Given the description of an element on the screen output the (x, y) to click on. 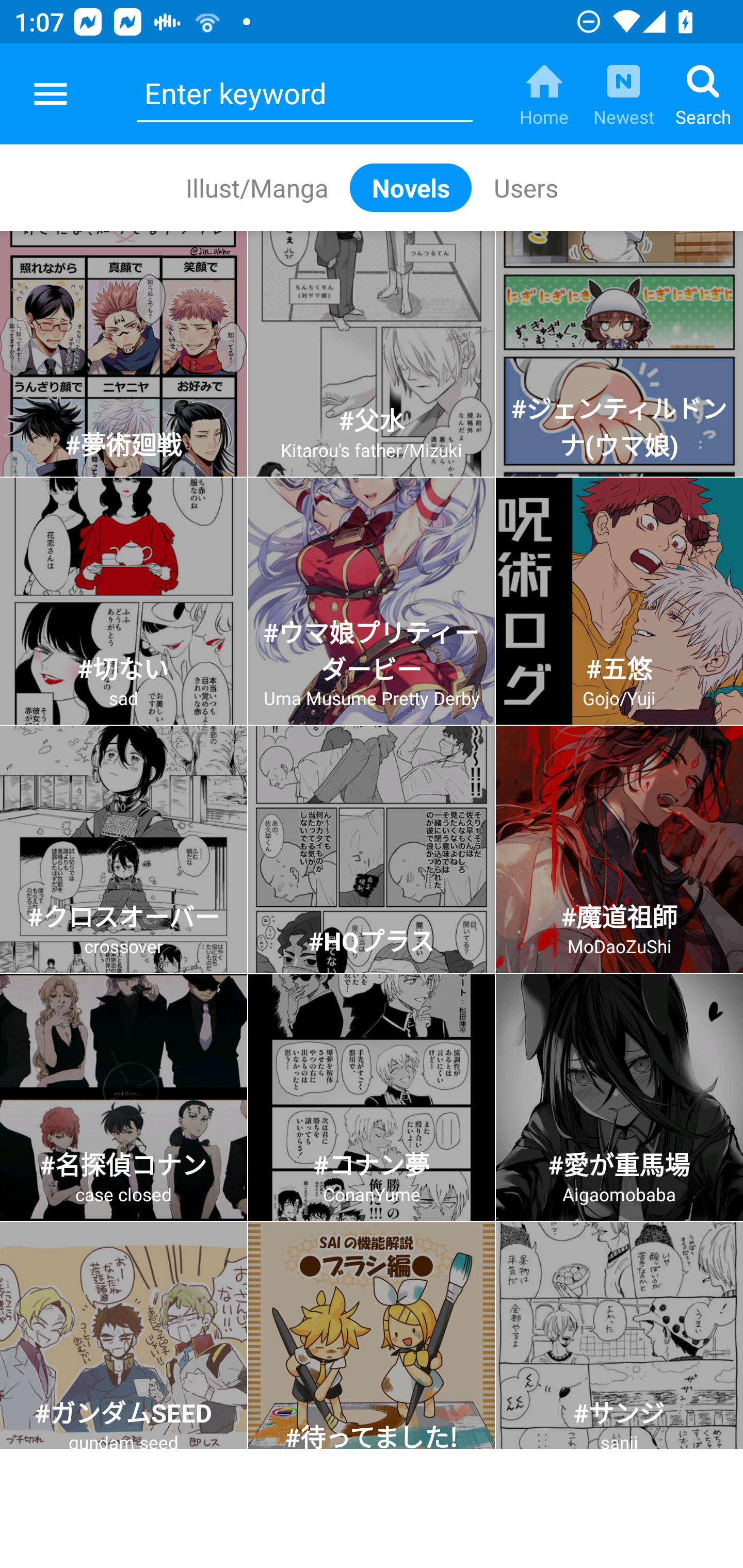
pixiv (50, 93)
Home (543, 93)
Newest (623, 93)
Enter keyword (304, 93)
Illust/Manga (256, 187)
Novels (410, 187)
Users (525, 187)
